Given the description of an element on the screen output the (x, y) to click on. 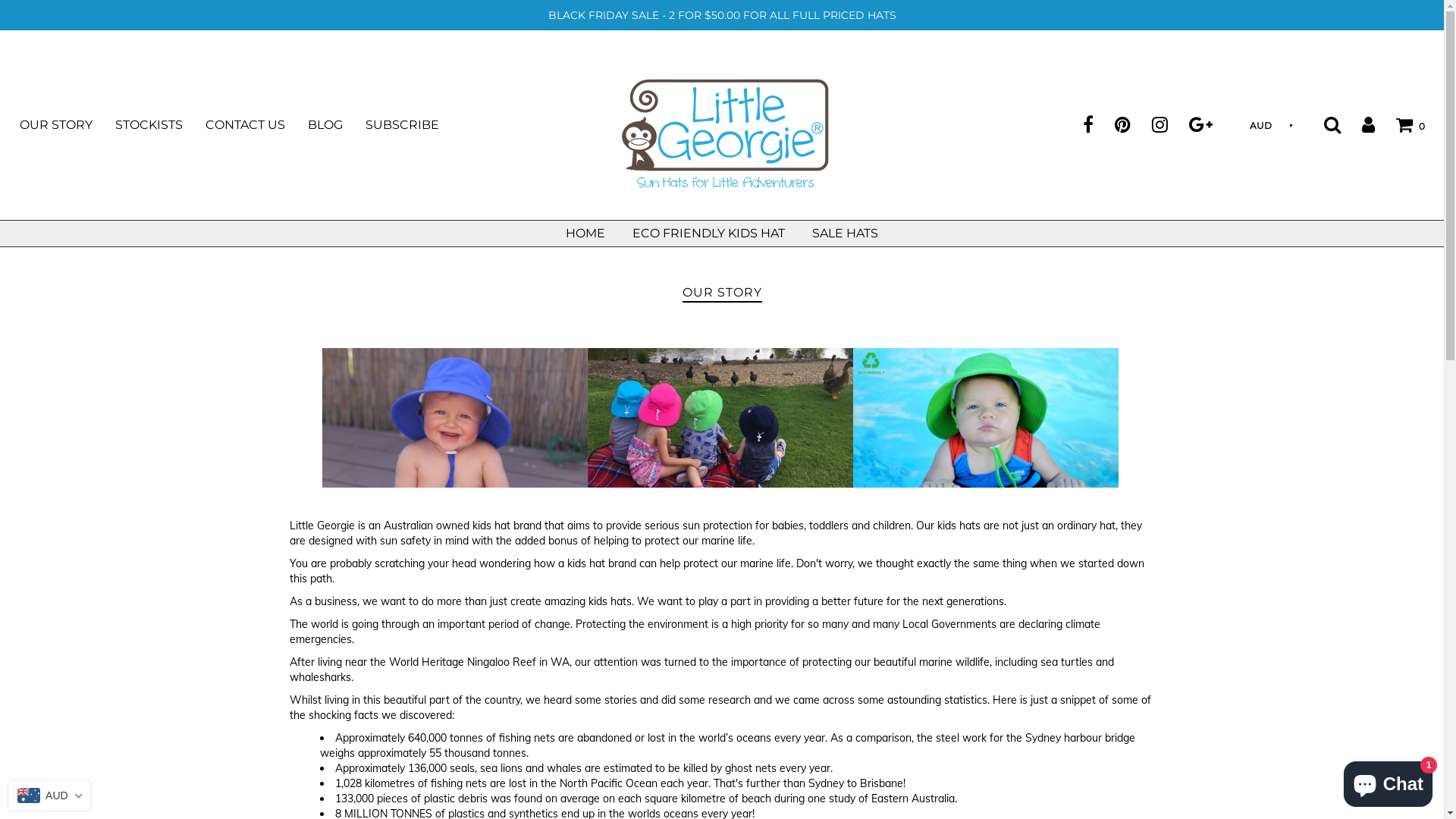
HOME Element type: text (585, 233)
CONTACT US Element type: text (256, 124)
SUBSCRIBE Element type: text (413, 124)
BLOG Element type: text (336, 124)
Log in Element type: hover (1358, 124)
STOCKISTS Element type: text (160, 124)
Shopify online store chat Element type: hover (1388, 780)
ECO FRIENDLY KIDS HAT Element type: text (708, 233)
0 Element type: text (1400, 124)
SALE HATS Element type: text (844, 233)
BLACK FRIDAY SALE - 2 FOR $50.00 FOR ALL FULL PRICED HATS Element type: text (721, 14)
Search Element type: hover (1322, 124)
OUR STORY Element type: text (67, 124)
